Given the description of an element on the screen output the (x, y) to click on. 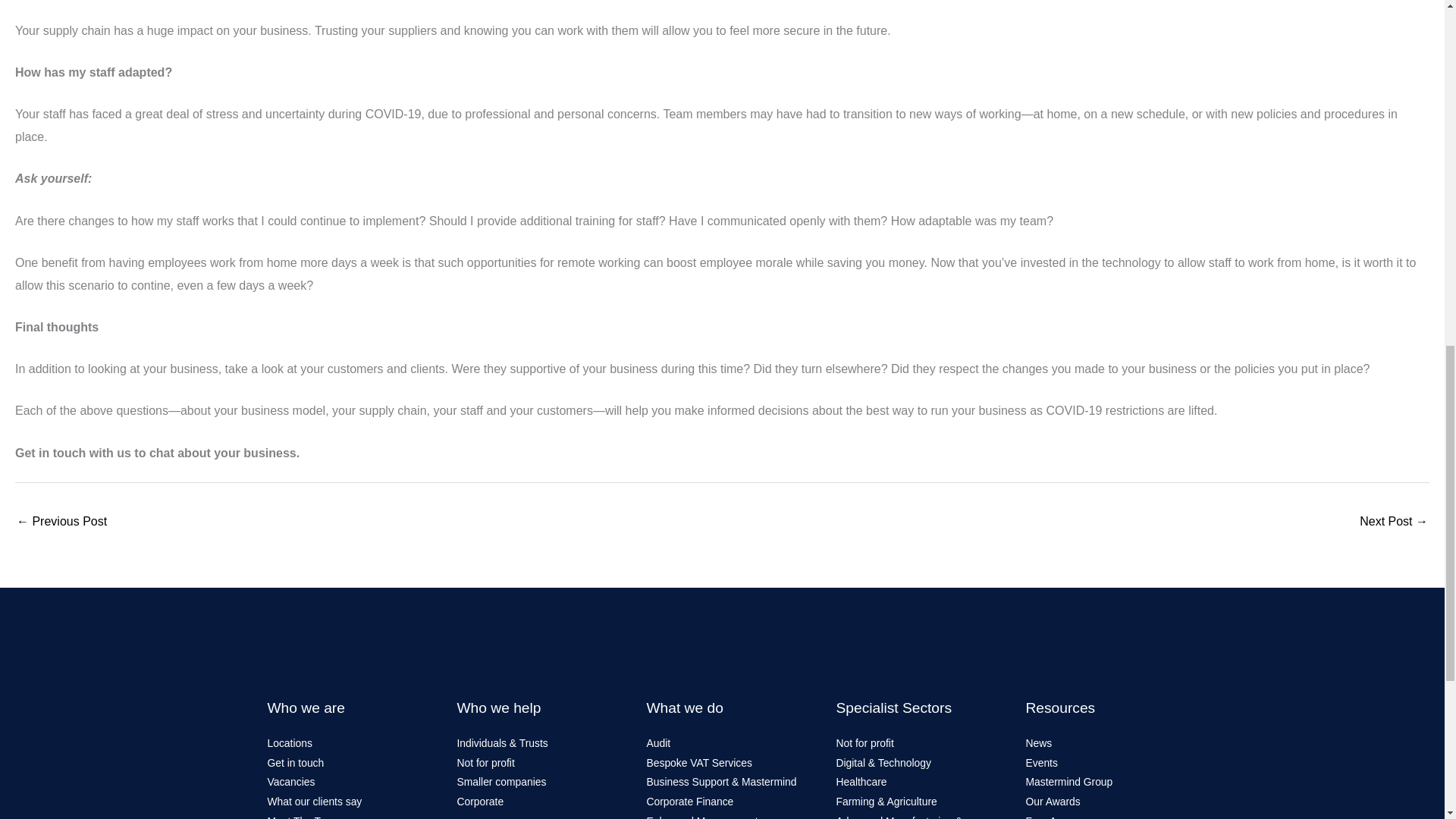
How your business can thrive even in a recession (1393, 522)
Bespoke VAT Services (698, 762)
What our clients say (313, 801)
Corporate (480, 801)
Locations (288, 743)
Smaller companies (501, 781)
Vacancies (290, 781)
Not for profit (485, 762)
Prepare a business plan for COVID-19 recovery (61, 522)
Get in touch (294, 762)
